Given the description of an element on the screen output the (x, y) to click on. 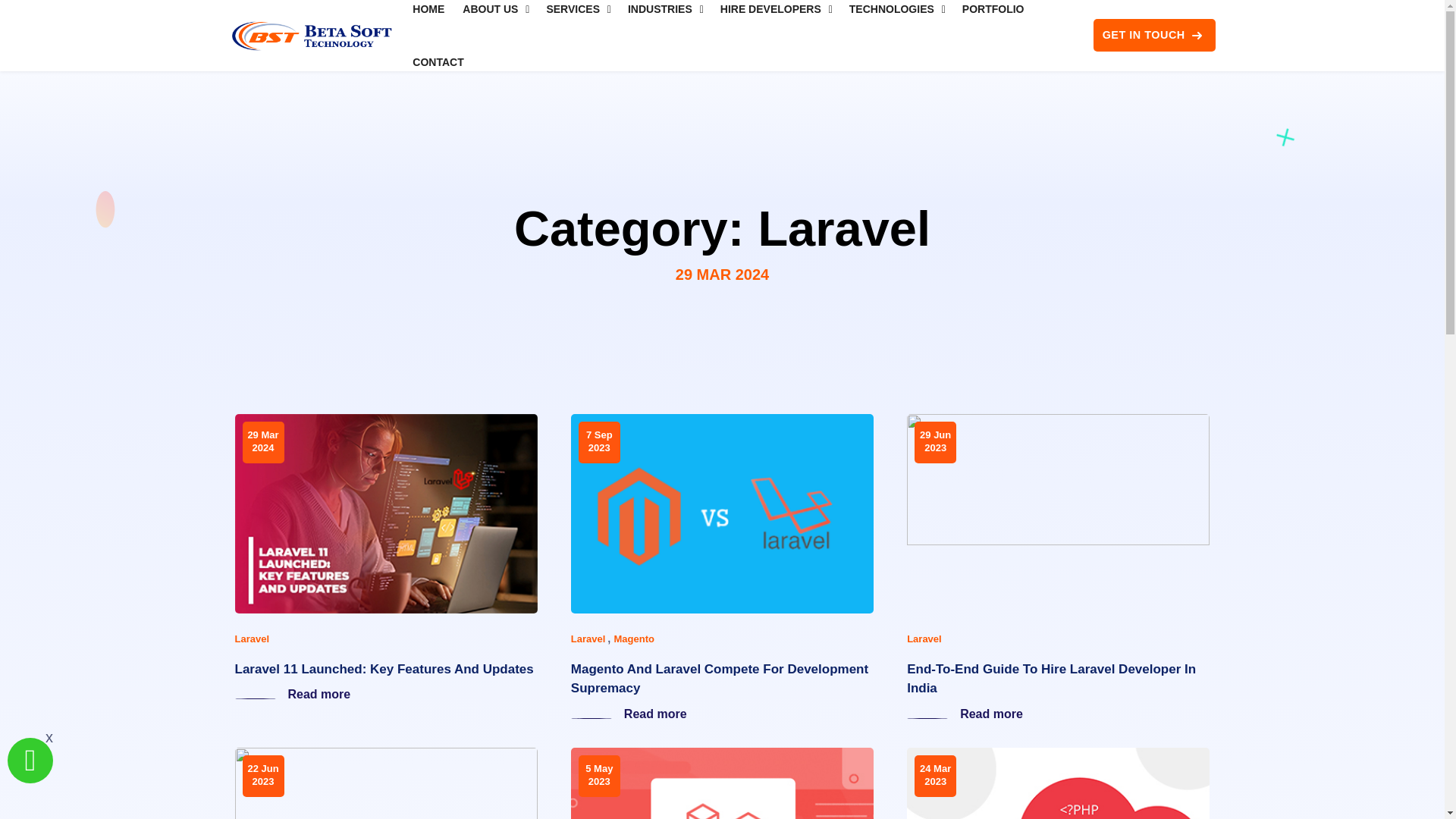
HOME (427, 18)
SERVICES (572, 18)
ABOUT US (489, 18)
